Given the description of an element on the screen output the (x, y) to click on. 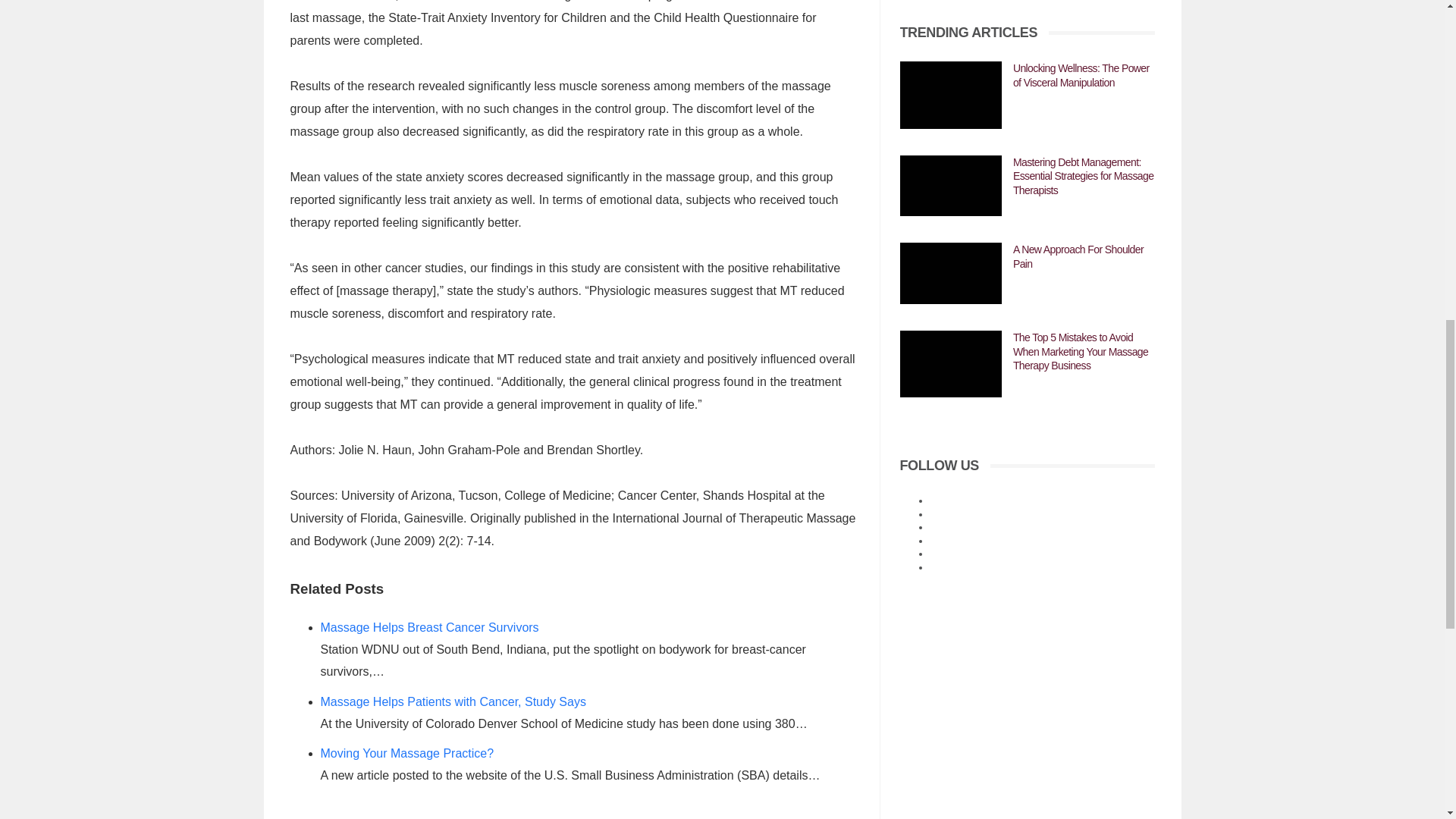
A New Approach For Shoulder Pain (950, 272)
Unlocking Wellness: The Power of Visceral Manipulation (950, 94)
